Given the description of an element on the screen output the (x, y) to click on. 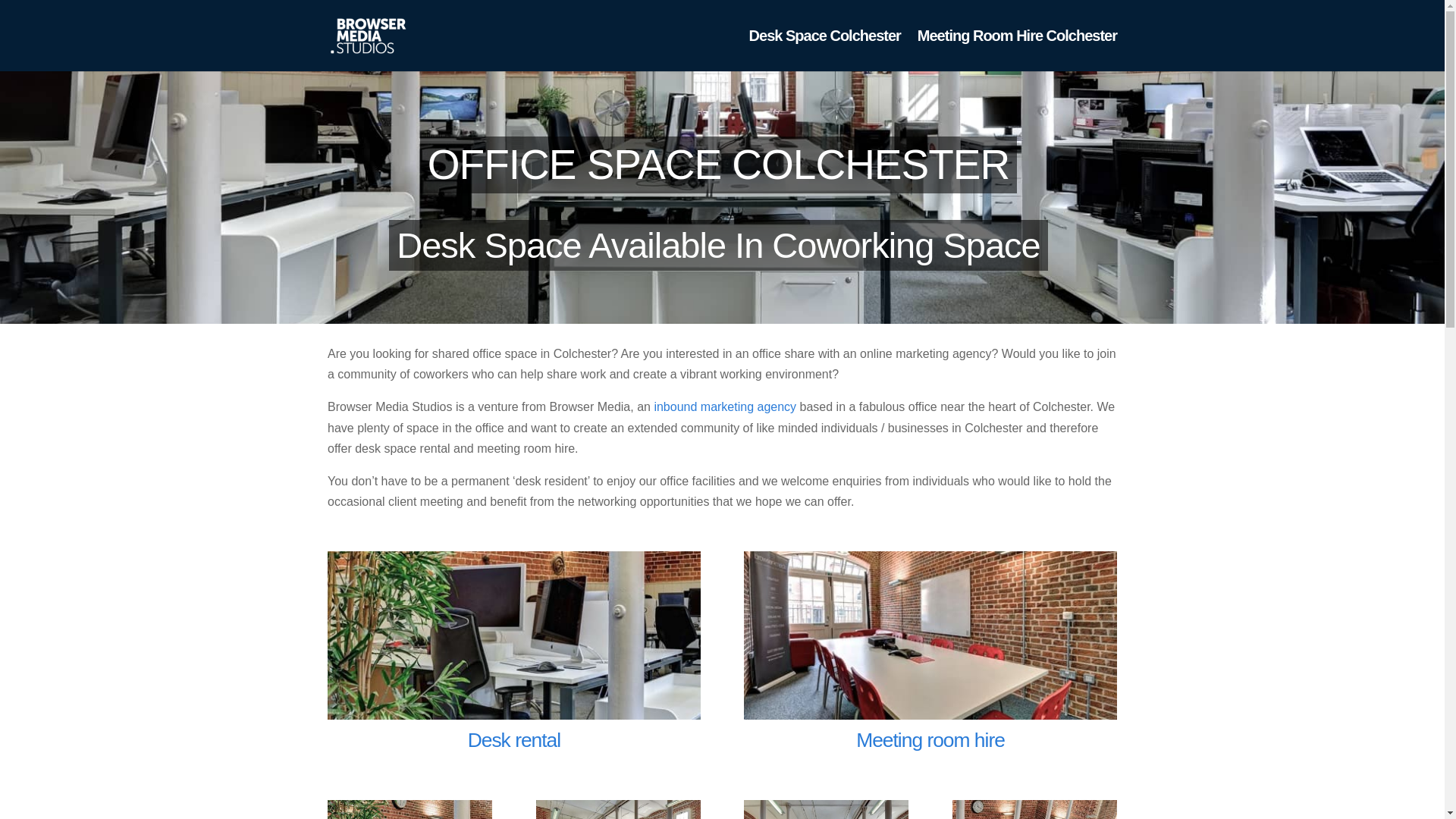
Meeting Room Hire Colchester (1016, 50)
inbound marketing agency (724, 406)
Desk rental (513, 739)
Desk Space Colchester (825, 50)
Meeting room hire (930, 739)
Inbound Marketing Agency (724, 406)
